Given the description of an element on the screen output the (x, y) to click on. 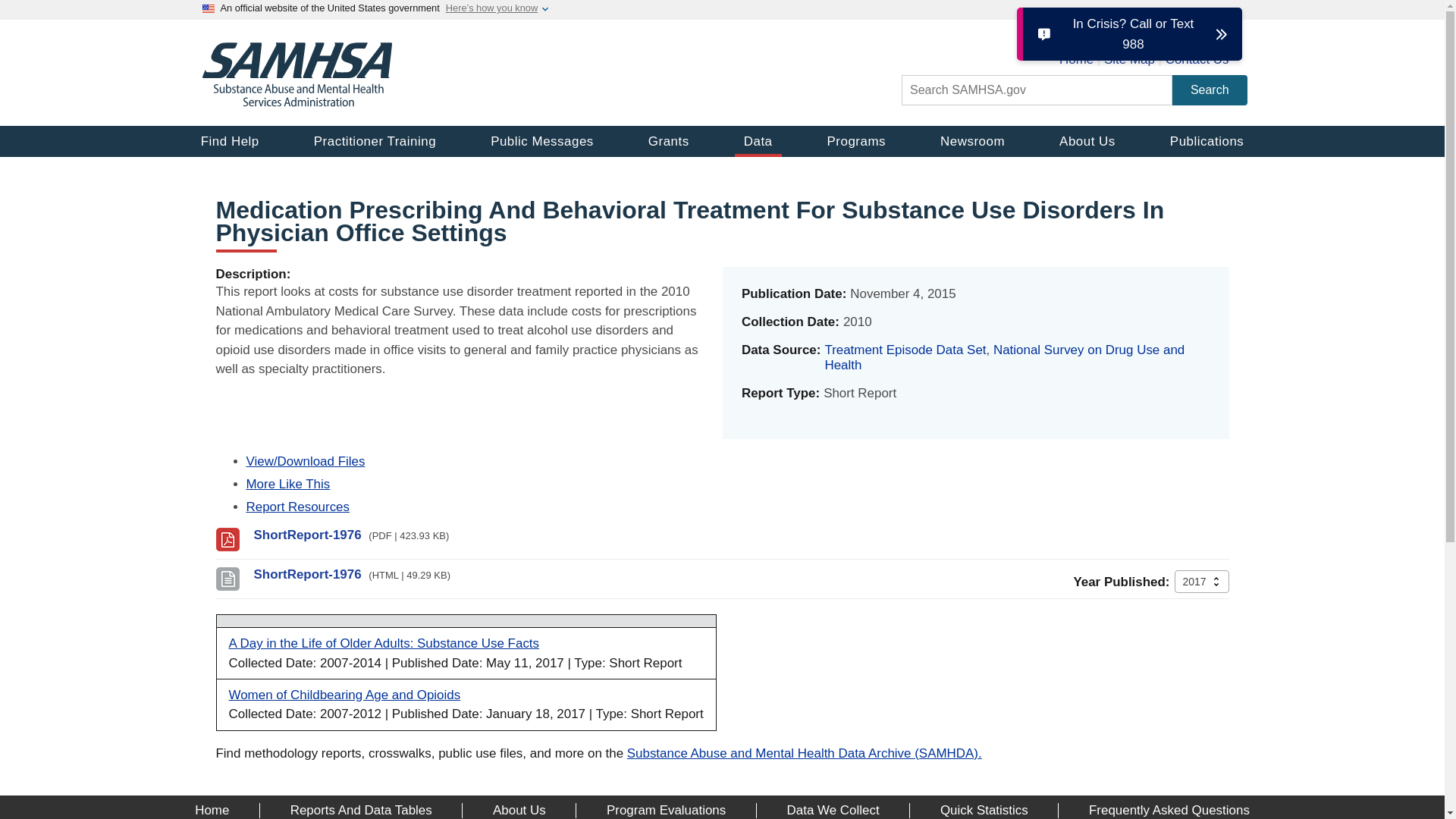
Home (1076, 59)
Find Help (228, 141)
Contact Us (1197, 59)
In Crisis? Call or Text 988 (1132, 33)
SAMHSA.gov (296, 102)
Search (1209, 90)
Site Map (1128, 59)
